Given the description of an element on the screen output the (x, y) to click on. 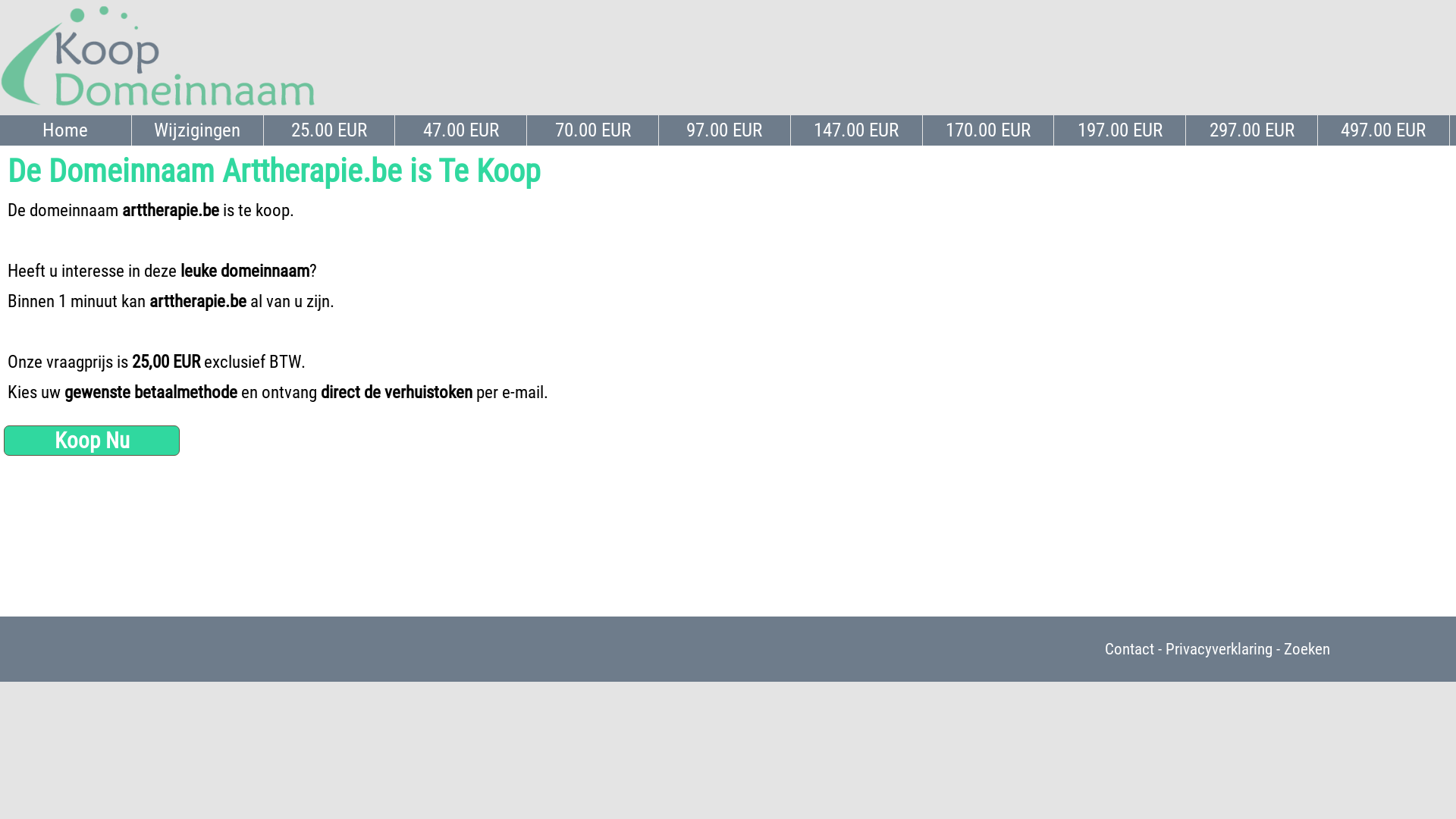
Wijzigingen Element type: text (197, 130)
Contact Element type: text (1129, 649)
497.00 EUR Element type: text (1383, 130)
97.00 EUR Element type: text (724, 130)
47.00 EUR Element type: text (461, 130)
170.00 EUR Element type: text (988, 130)
Koop Domeinnaam Element type: hover (158, 56)
147.00 EUR Element type: text (856, 130)
25.00 EUR Element type: text (329, 130)
Zoeken Element type: text (1306, 649)
Koop Nu Element type: text (91, 440)
197.00 EUR Element type: text (1120, 130)
Koop Domeinnaam Element type: hover (158, 108)
Privacyverklaring Element type: text (1218, 649)
70.00 EUR Element type: text (592, 130)
Home Element type: text (65, 130)
297.00 EUR Element type: text (1251, 130)
